Given the description of an element on the screen output the (x, y) to click on. 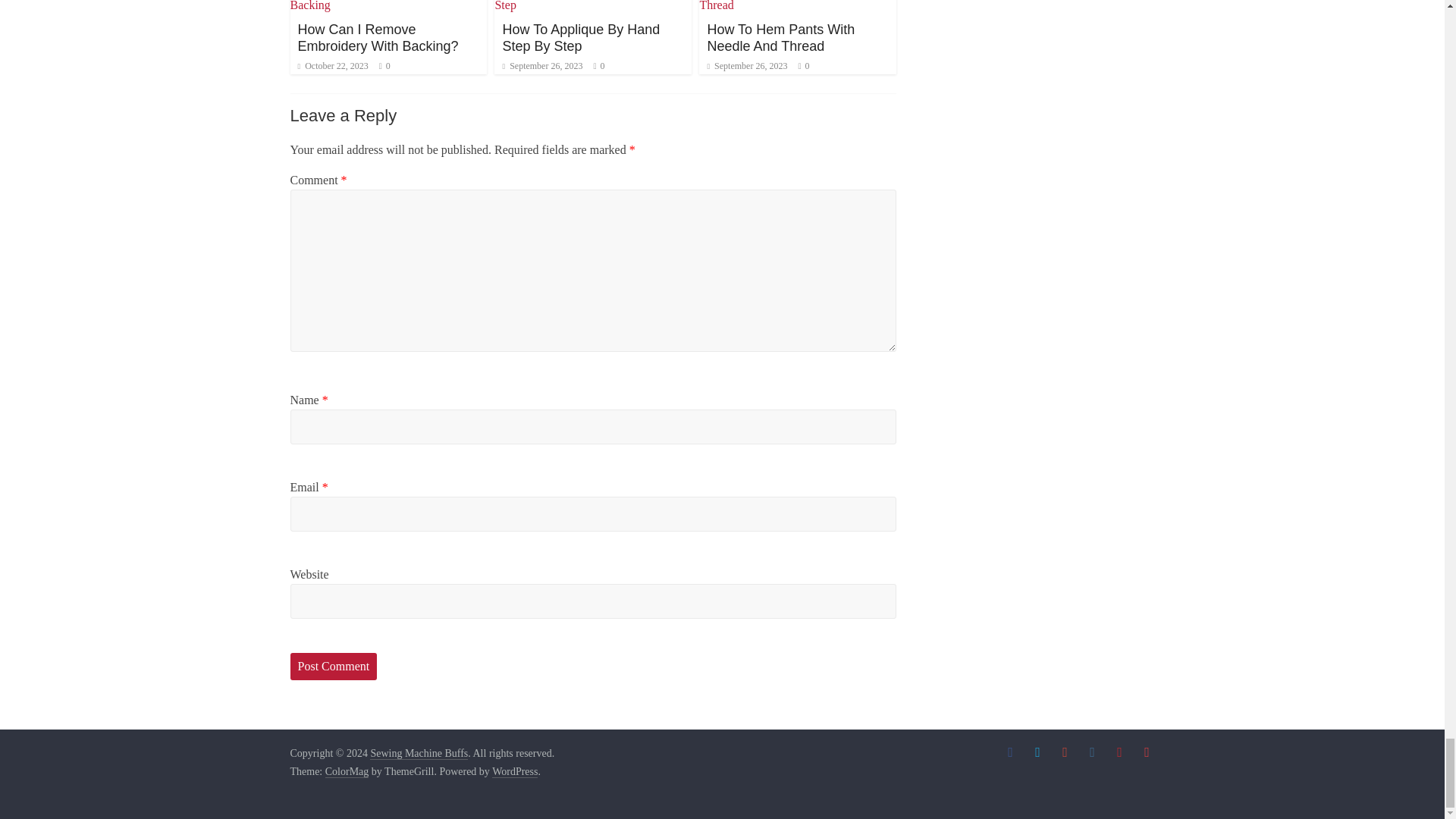
Post Comment (333, 666)
How Can I Remove Embroidery With Backing? (377, 38)
How To Applique By Hand Step By Step (580, 38)
12:29 pm (542, 65)
10:16 pm (332, 65)
